Given the description of an element on the screen output the (x, y) to click on. 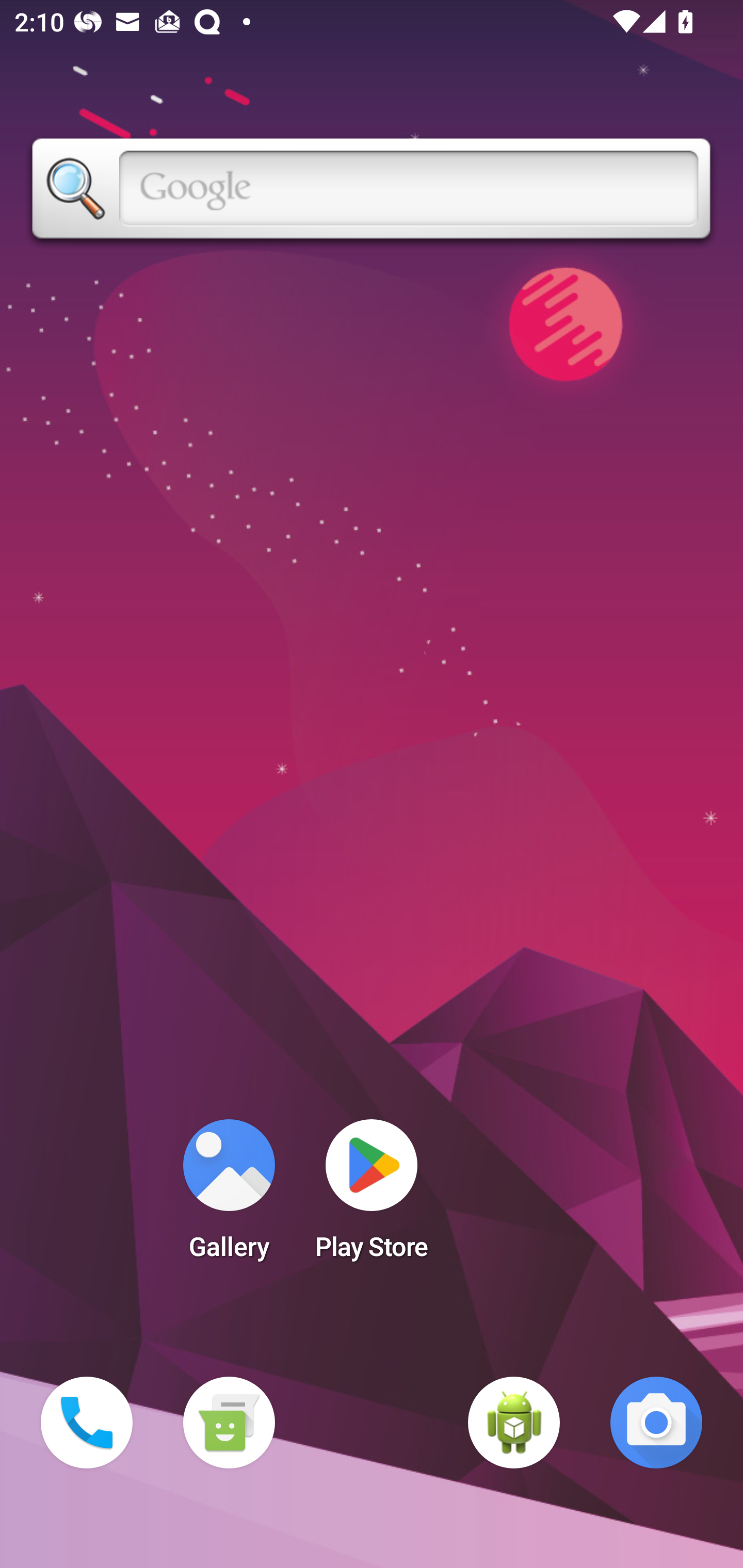
Gallery (228, 1195)
Play Store (371, 1195)
Phone (86, 1422)
Messaging (228, 1422)
WebView Browser Tester (513, 1422)
Camera (656, 1422)
